Given the description of an element on the screen output the (x, y) to click on. 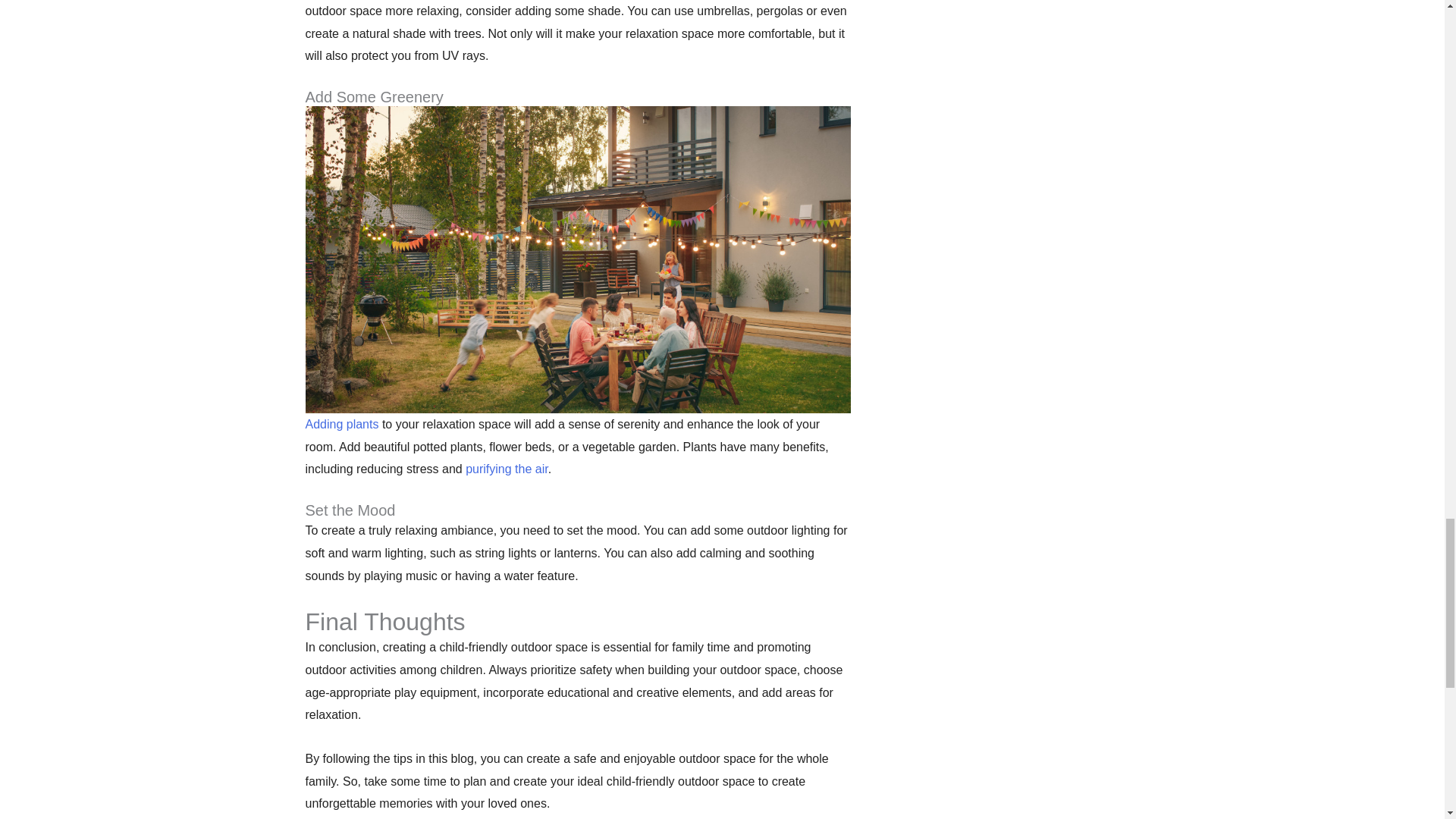
purifying the air (506, 468)
Adding plants (341, 423)
